Given the description of an element on the screen output the (x, y) to click on. 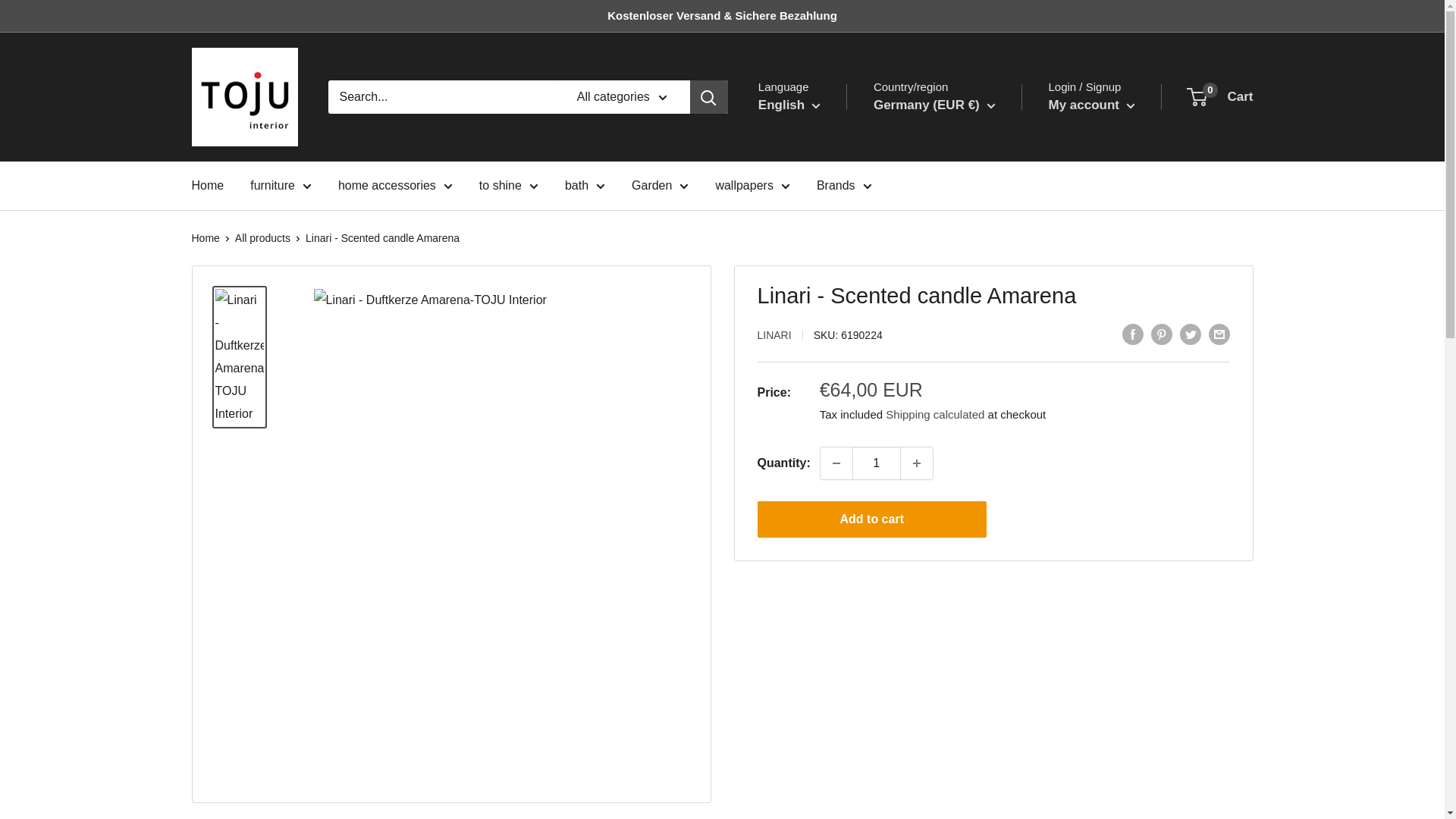
1 (876, 463)
Decrease quantity by 1 (836, 463)
Increase quantity by 1 (917, 463)
